Given the description of an element on the screen output the (x, y) to click on. 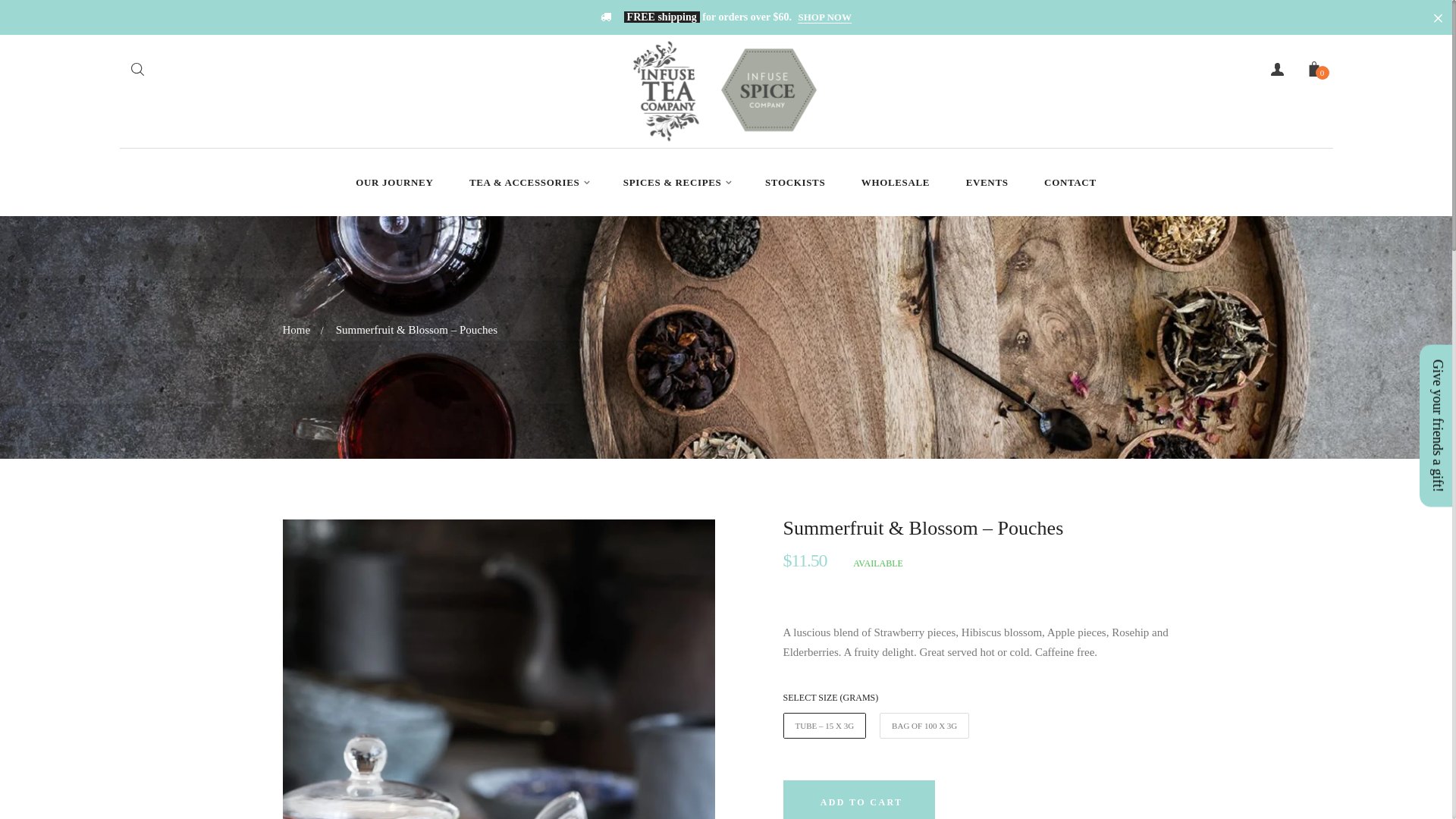
0 Element type: text (1313, 72)
SPICES & RECIPES Element type: text (676, 182)
EVENTS Element type: text (987, 182)
CONTACT Element type: text (1070, 182)
SHOP NOW Element type: text (823, 17)
Account Element type: hover (1276, 68)
Home Element type: text (296, 329)
Sign In Element type: text (1185, 349)
Submit Element type: hover (136, 71)
WHOLESALE Element type: text (895, 182)
OUR JOURNEY Element type: text (393, 182)
TEA & ACCESSORIES Element type: text (527, 182)
STOCKISTS Element type: text (794, 182)
